Given the description of an element on the screen output the (x, y) to click on. 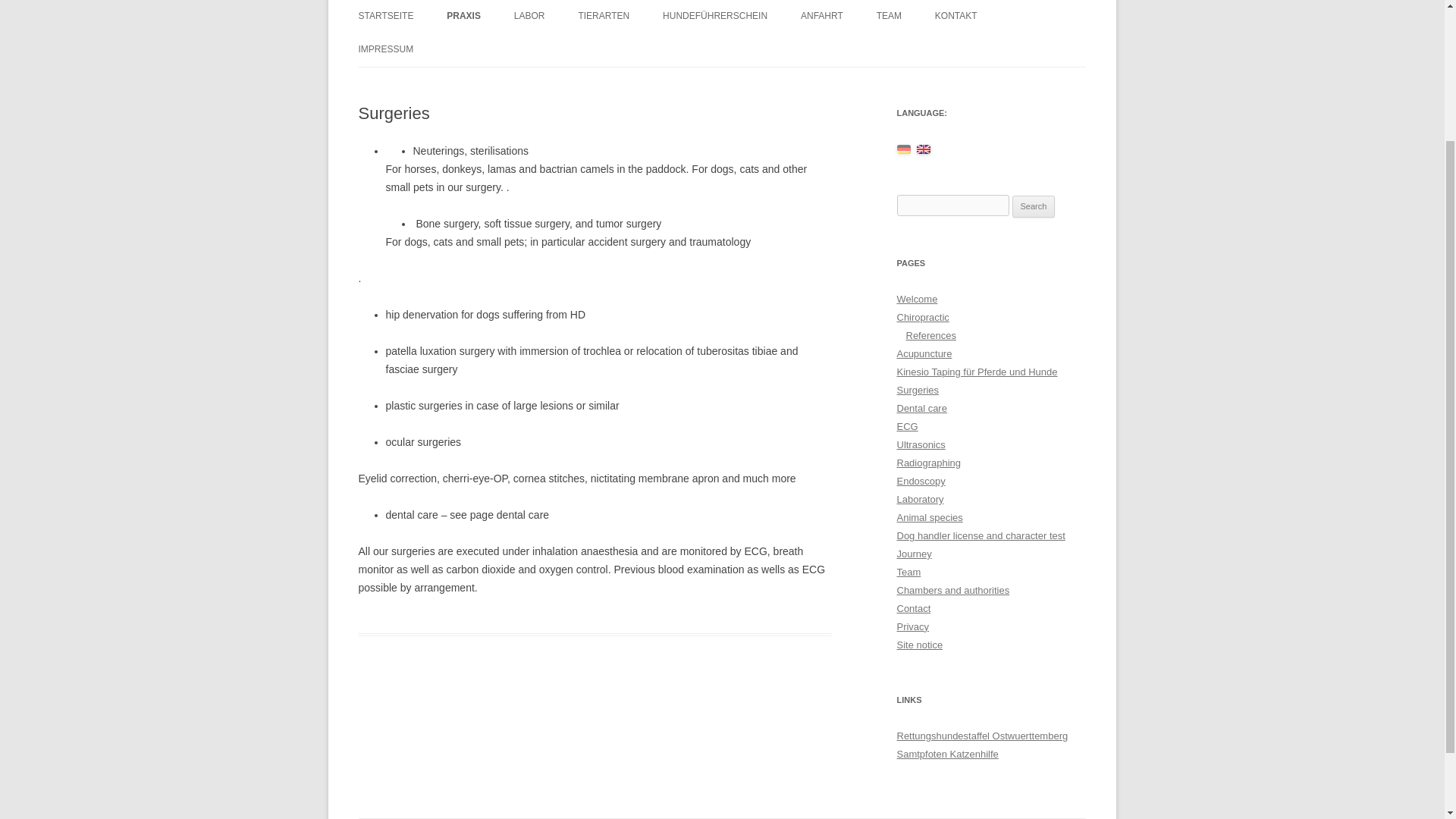
KONTAKT (955, 16)
PRAXIS (463, 16)
Chiropractic (922, 317)
TIERARTEN (603, 16)
ANFAHRT (821, 16)
Rettungshundestaffel Ostwuerttemberg (981, 736)
Radiographing (927, 462)
LABOR (528, 16)
IMPRESSUM (385, 49)
CHIROPRAKTIK (522, 47)
Animal species (929, 517)
STARTSEITE (385, 16)
Endoscopy (920, 480)
Laboratory (919, 499)
Search (1033, 206)
